Given the description of an element on the screen output the (x, y) to click on. 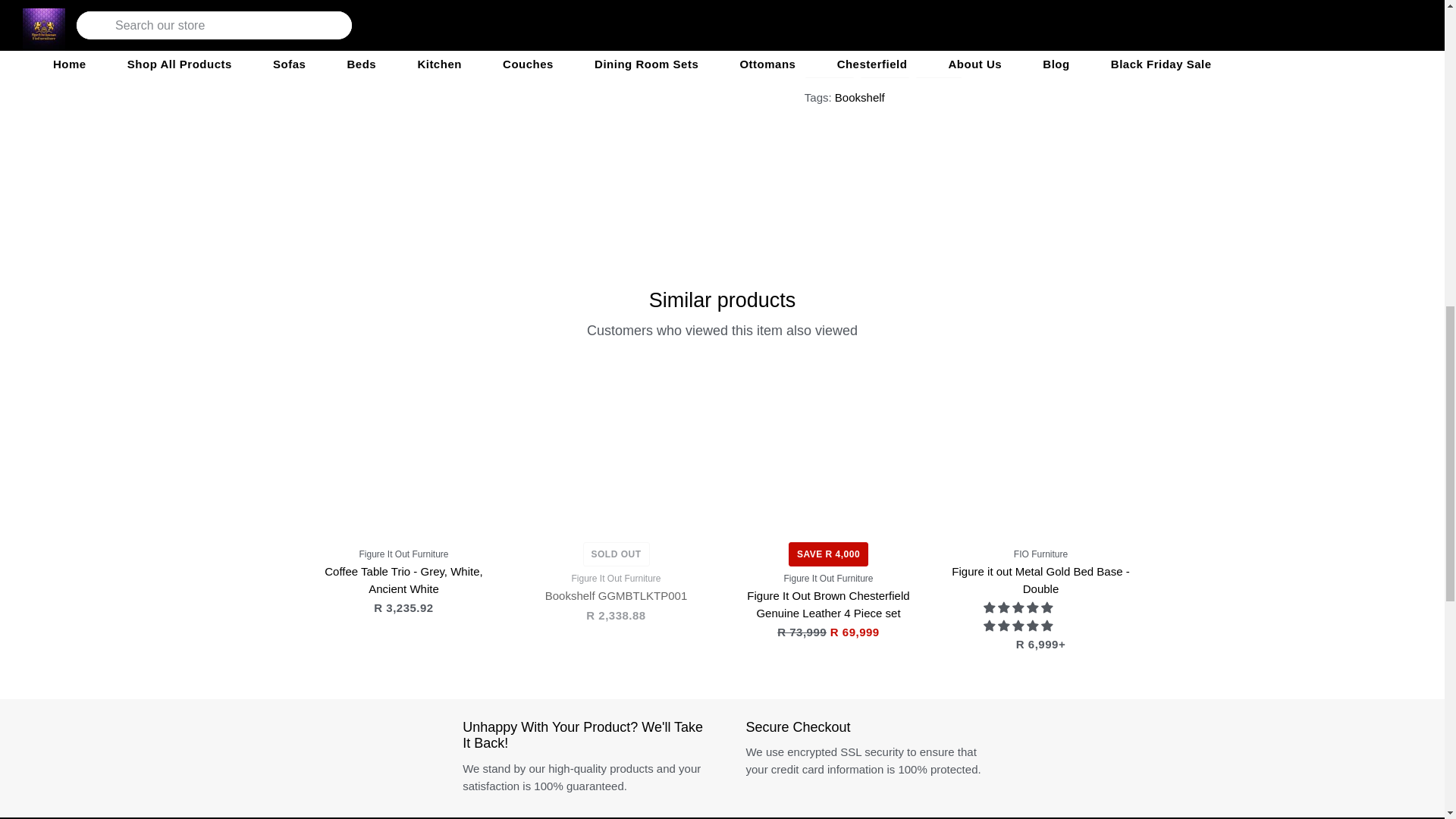
Tweet on Twitter (885, 63)
Pin on Pinterest (938, 63)
Share on Facebook (829, 63)
